Given the description of an element on the screen output the (x, y) to click on. 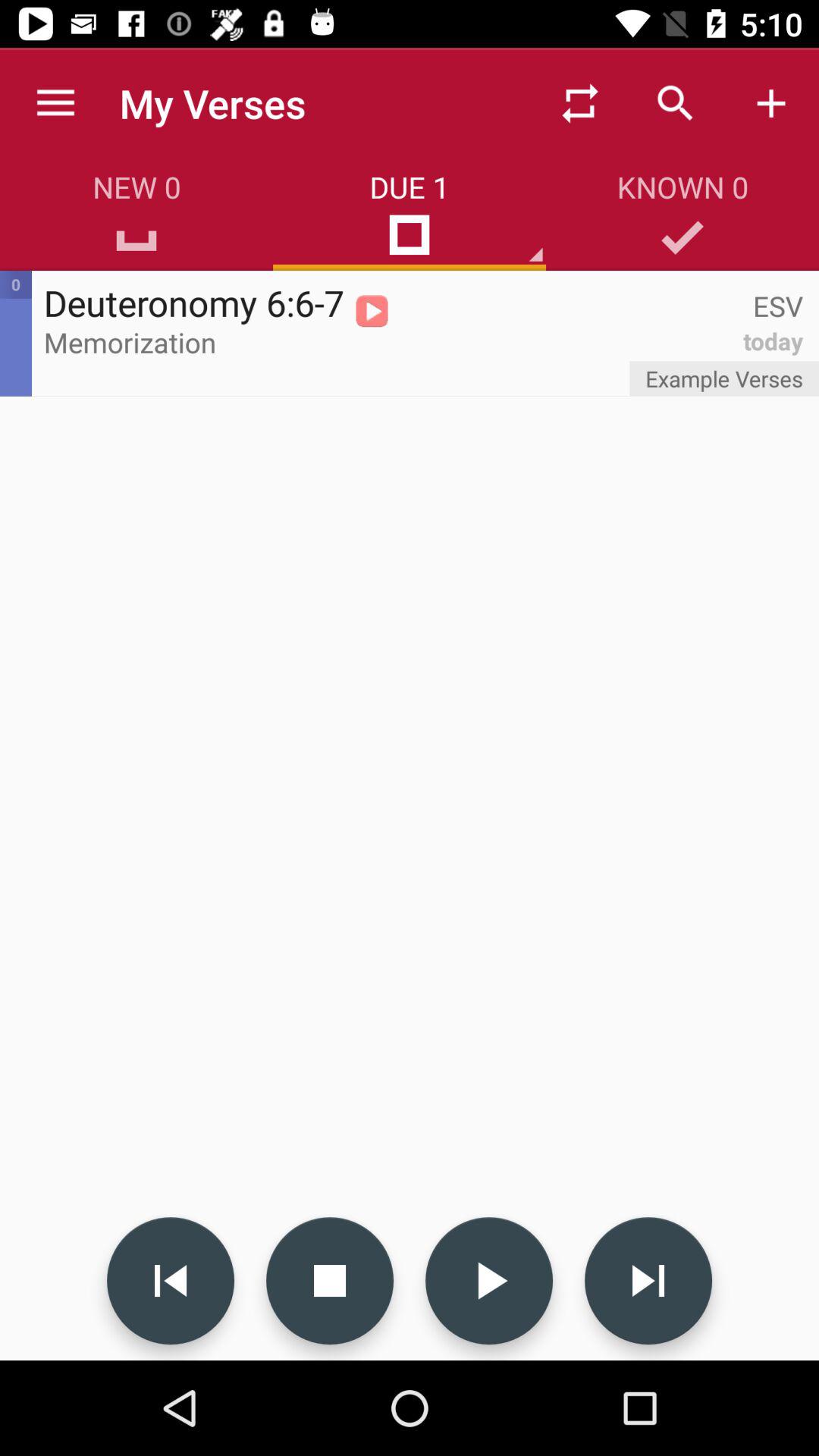
etc (329, 1280)
